Given the description of an element on the screen output the (x, y) to click on. 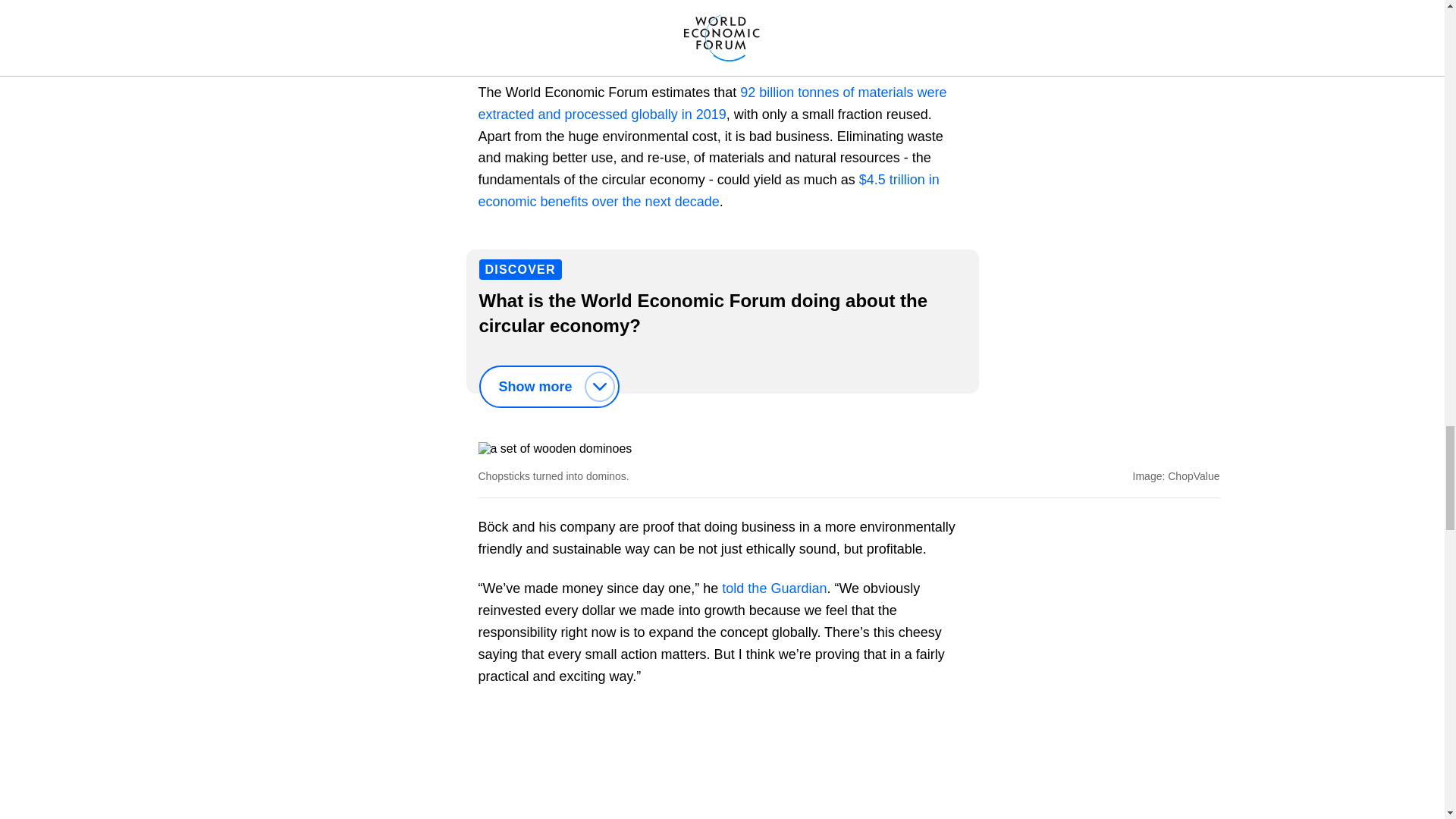
told the Guardian (774, 588)
Show more (549, 386)
